Given the description of an element on the screen output the (x, y) to click on. 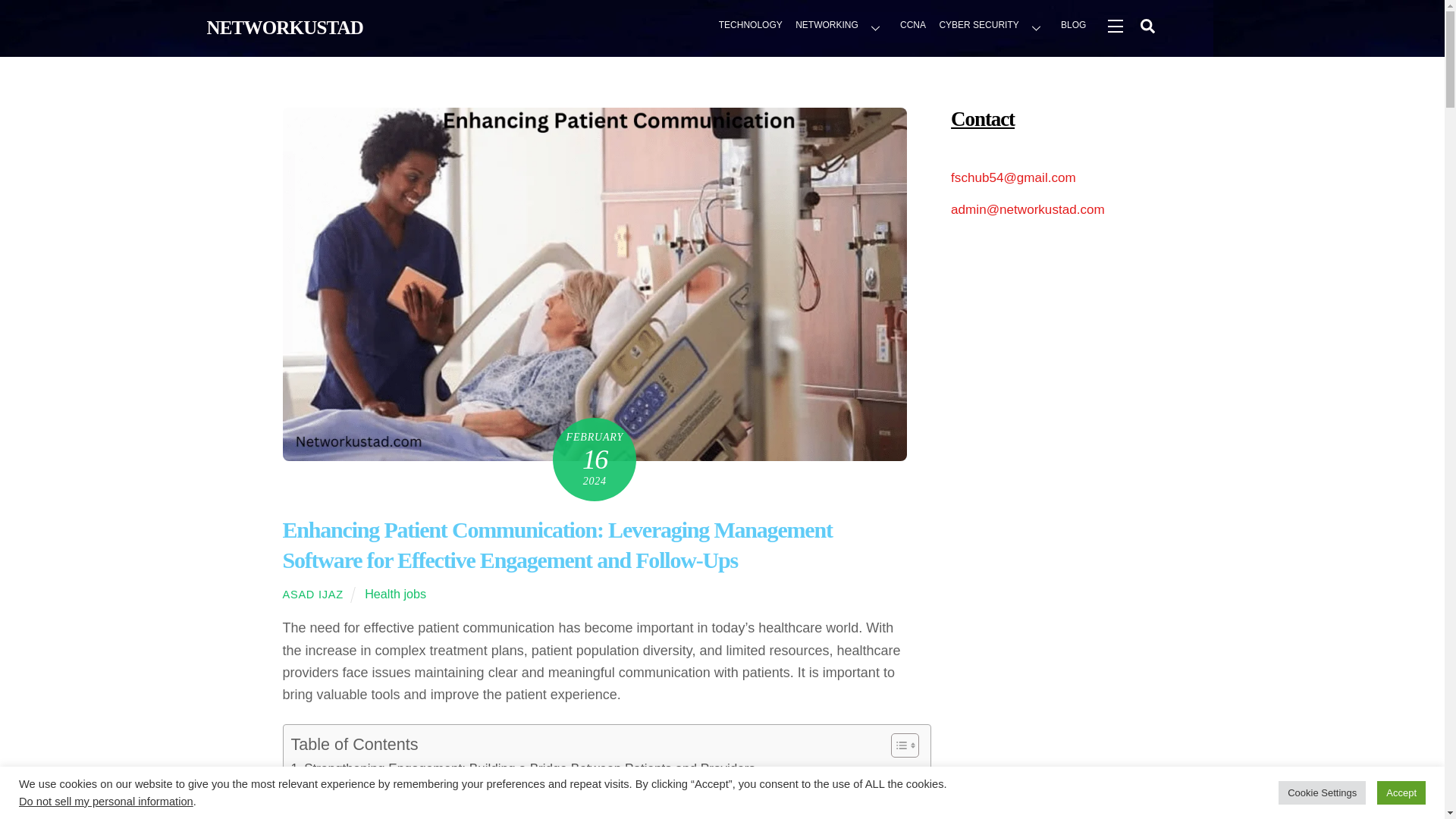
Centralized Patient Portals: (391, 787)
SEARCH (1146, 24)
CCNA (913, 26)
Automated Appointment Reminders: (414, 806)
Health jobs (395, 593)
WIDGETS (1114, 25)
NETWORKING (841, 26)
Centralized Patient Portals: (391, 787)
